Given the description of an element on the screen output the (x, y) to click on. 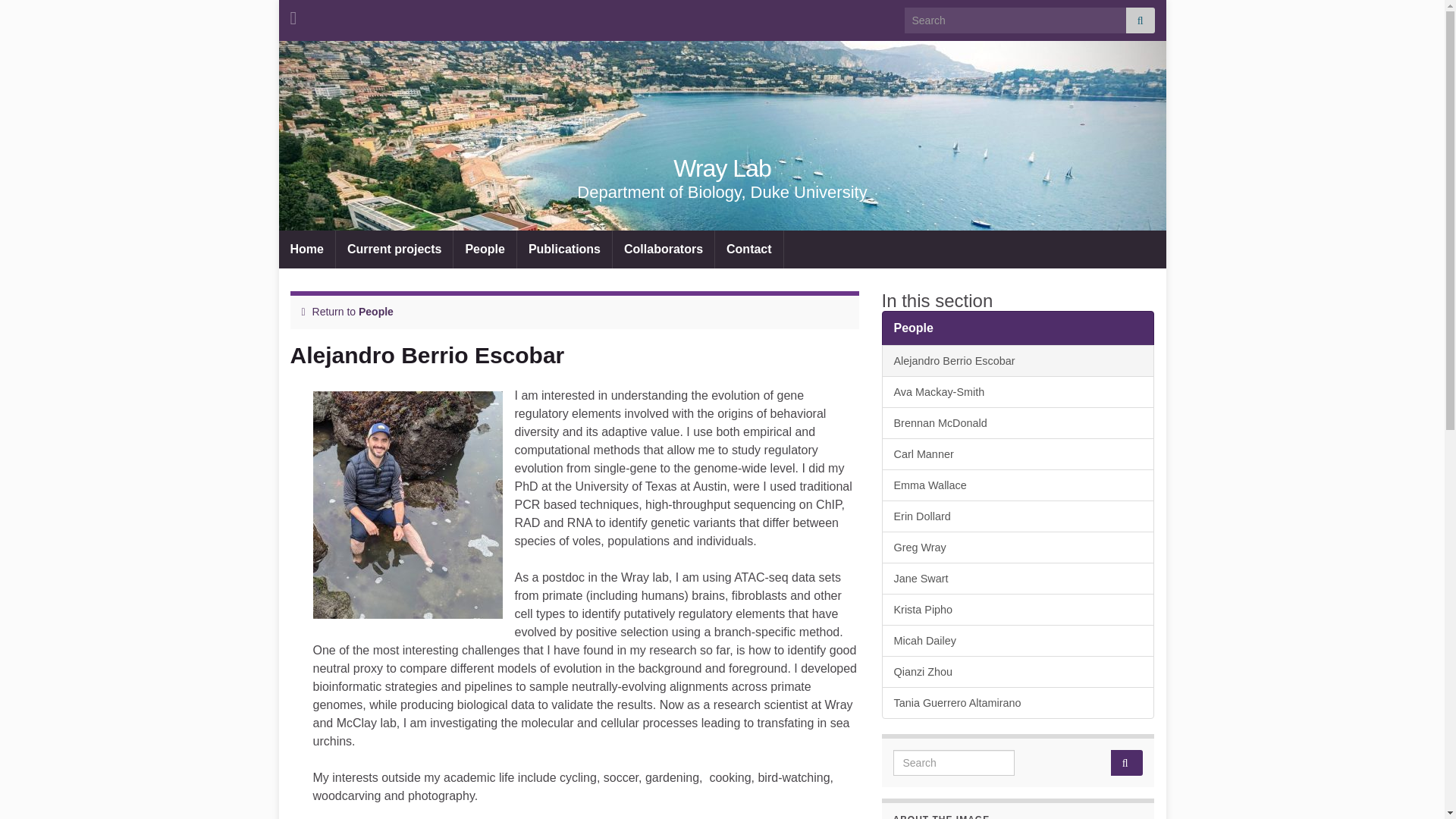
Micah Dailey (1017, 640)
Publications (563, 249)
Emma Wallace (1017, 485)
Collaborators (663, 249)
Contact (748, 249)
People (1017, 328)
Brennan McDonald (1017, 422)
Jane Swart (1017, 578)
Tania Guerrero Altamirano (1017, 703)
Krista Pipho (1017, 609)
Current projects (394, 249)
Erin Dollard (1017, 516)
Greg Wray (1017, 547)
Qianzi Zhou (1017, 671)
People (375, 311)
